Given the description of an element on the screen output the (x, y) to click on. 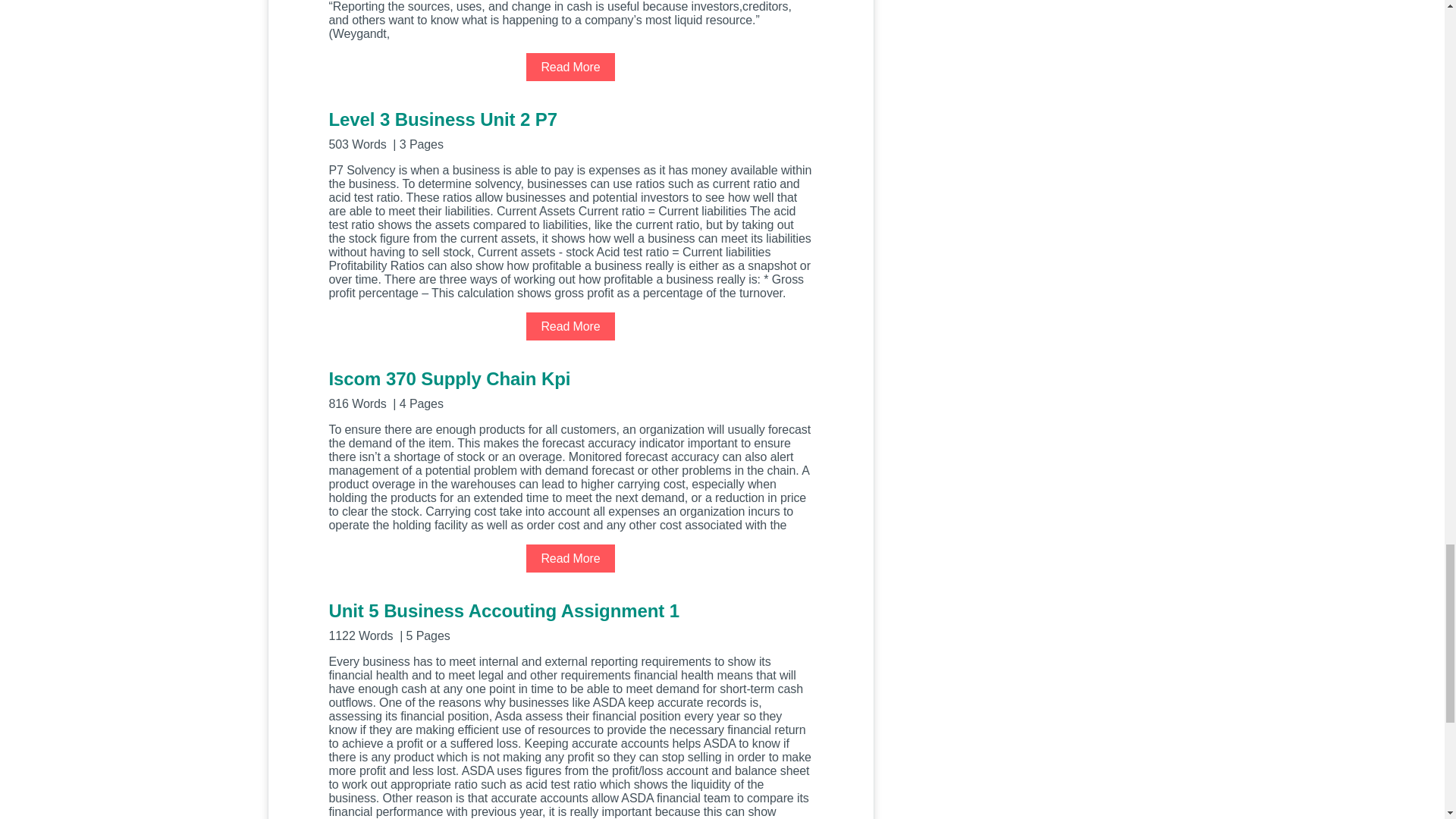
Unit 5 Business Accouting Assignment 1 (570, 620)
Read More (569, 326)
Iscom 370 Supply Chain Kpi (570, 388)
Read More (569, 67)
Read More (569, 558)
Level 3 Business Unit 2 P7 (570, 128)
